Given the description of an element on the screen output the (x, y) to click on. 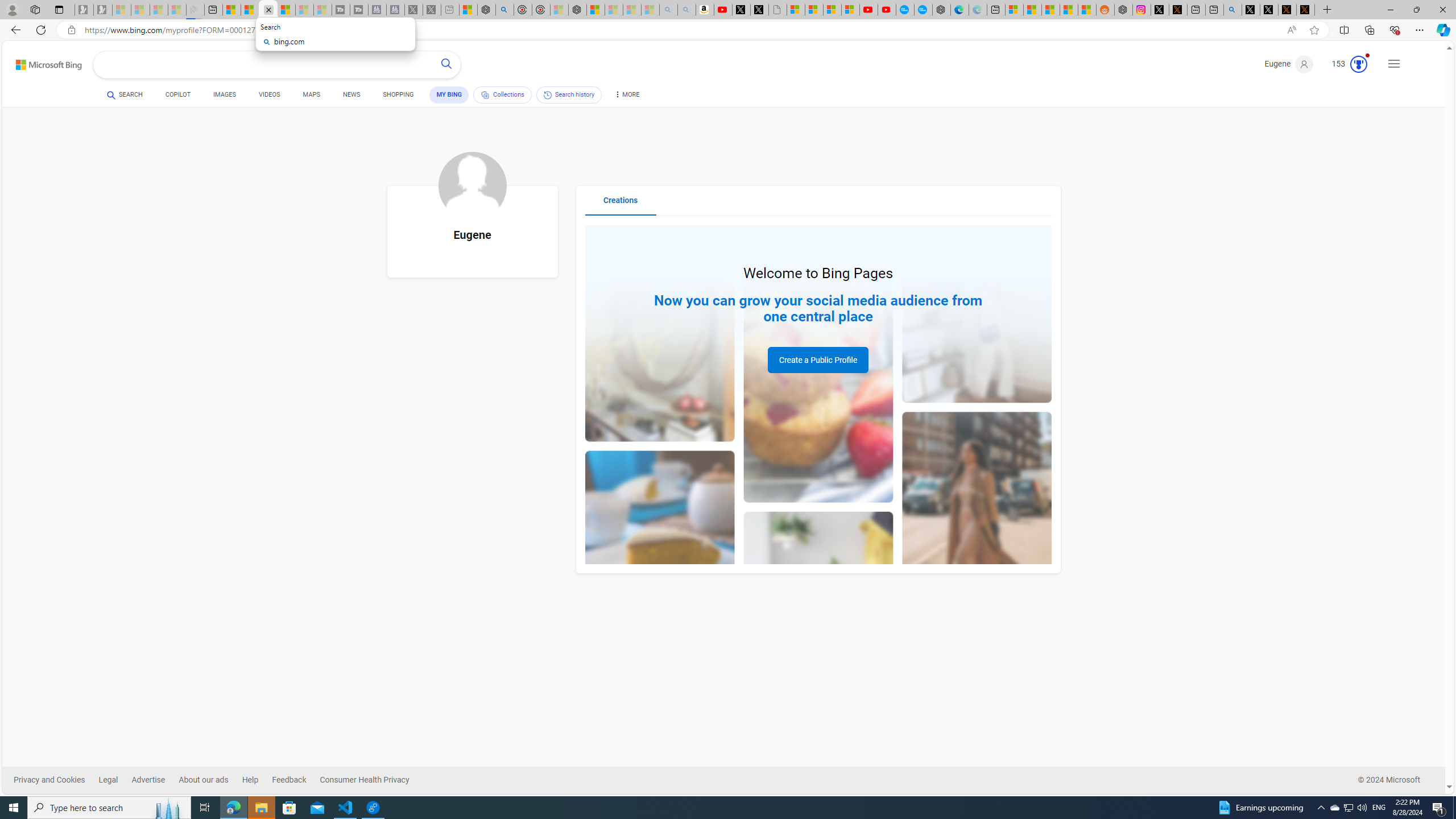
Microsoft Rewards 153 (1345, 63)
Privacy and Cookies (56, 780)
About our ads (203, 779)
To get missing image descriptions, open the context menu. (472, 185)
Legal (108, 779)
NEWS (350, 94)
Search history (568, 94)
IMAGES (224, 96)
MAPS (311, 94)
